Given the description of an element on the screen output the (x, y) to click on. 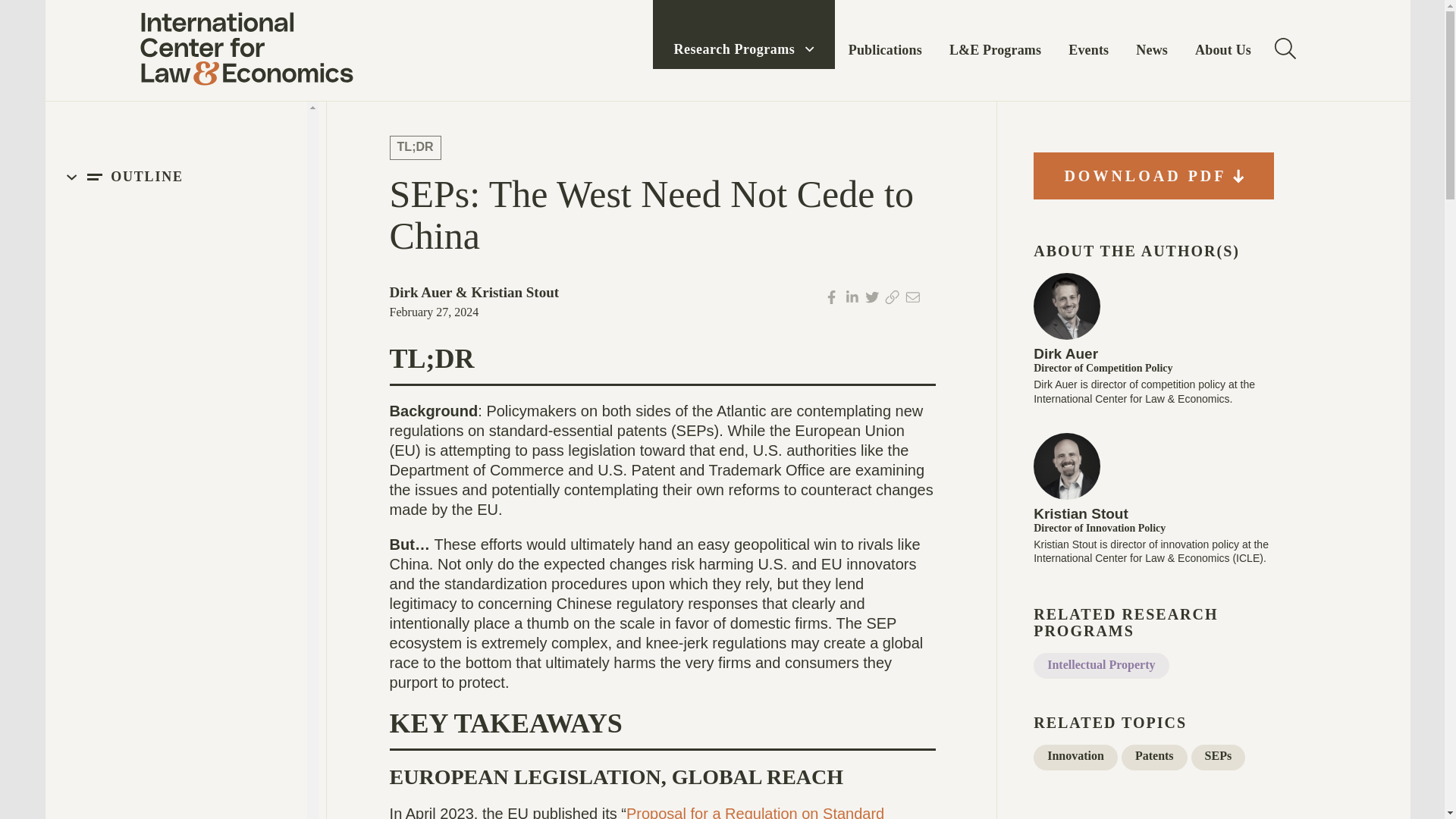
Email page (914, 299)
Dirk Auer (421, 292)
Copy URL (894, 299)
Intellectual Property (1101, 665)
Share via facebook (834, 299)
Publications (885, 34)
Patents (1154, 757)
OUTLINE (176, 178)
Innovation (1075, 757)
DOWNLOAD PDF (1153, 175)
Events (1088, 34)
Kristian Stout (1080, 513)
About Us (1222, 34)
EUROPEAN LEGISLATION, GLOBAL REACH (193, 294)
